Given the description of an element on the screen output the (x, y) to click on. 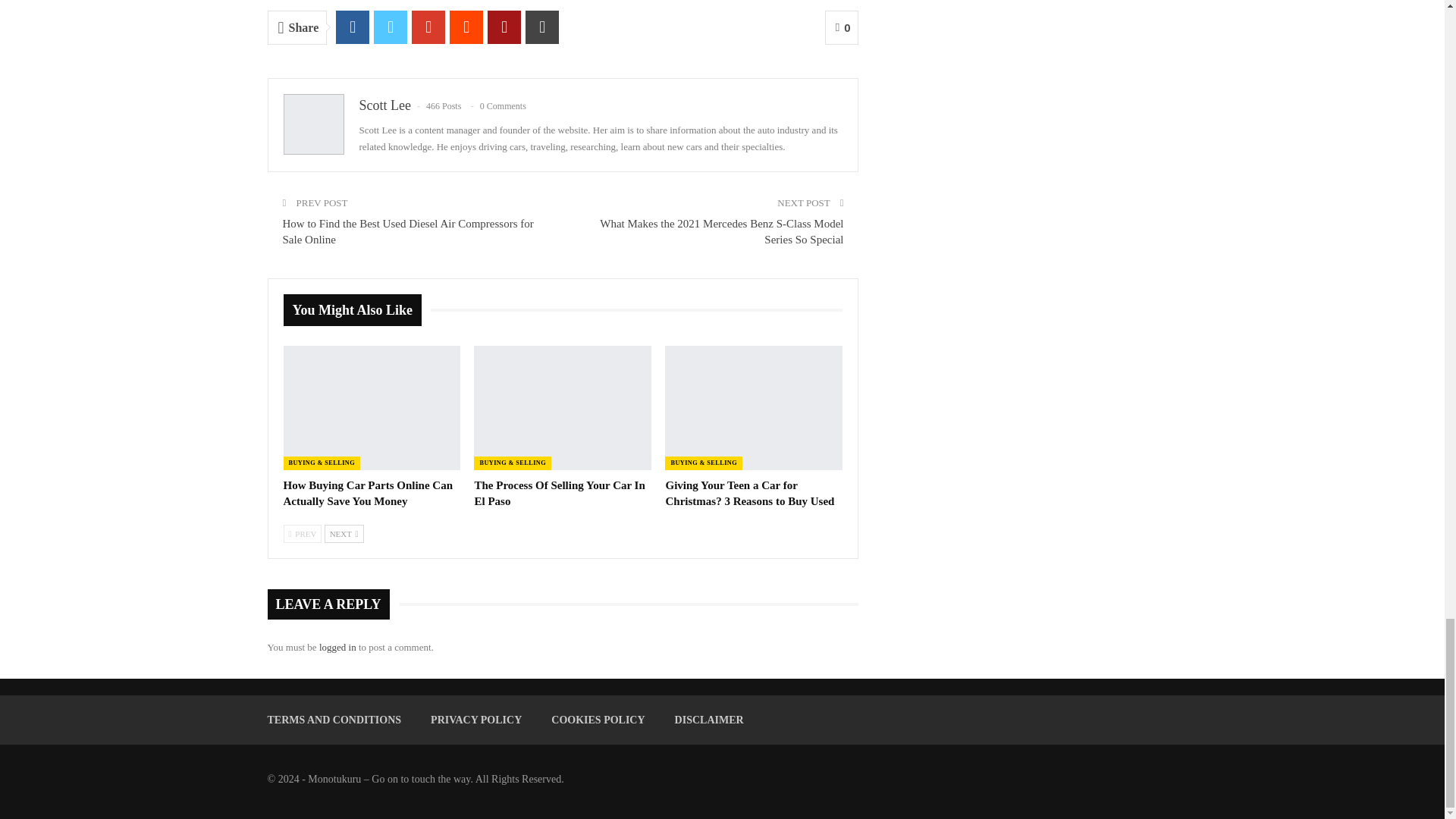
0 (842, 27)
How Buying Car Parts Online Can Actually Save You Money (367, 492)
How Buying Car Parts Online Can Actually Save You Money (372, 407)
The Process Of Selling Your Car In El Paso (559, 492)
